Given the description of an element on the screen output the (x, y) to click on. 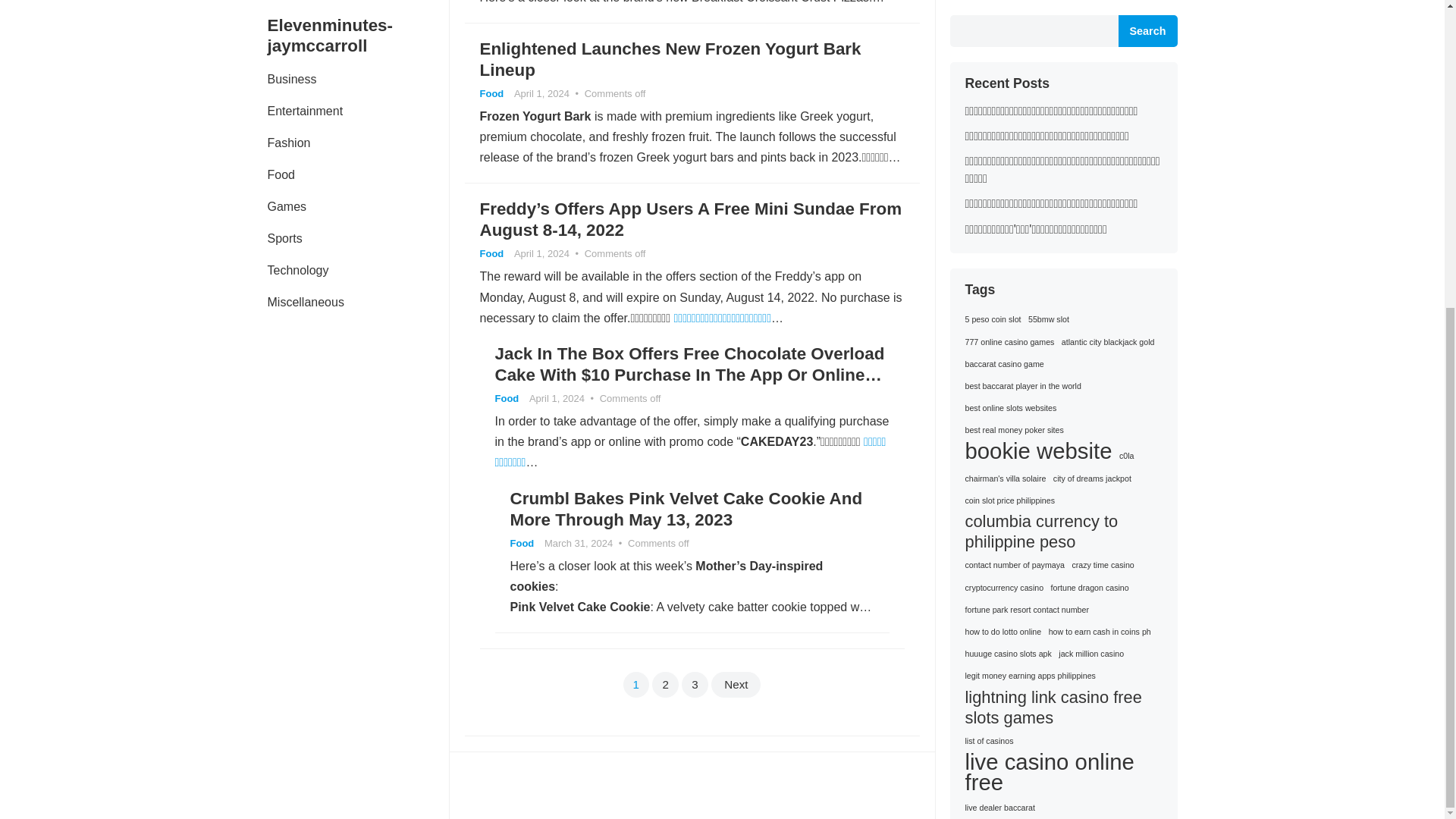
Food (491, 253)
Food (491, 93)
Enlightened Launches New Frozen Yogurt Bark Lineup (669, 59)
